Given the description of an element on the screen output the (x, y) to click on. 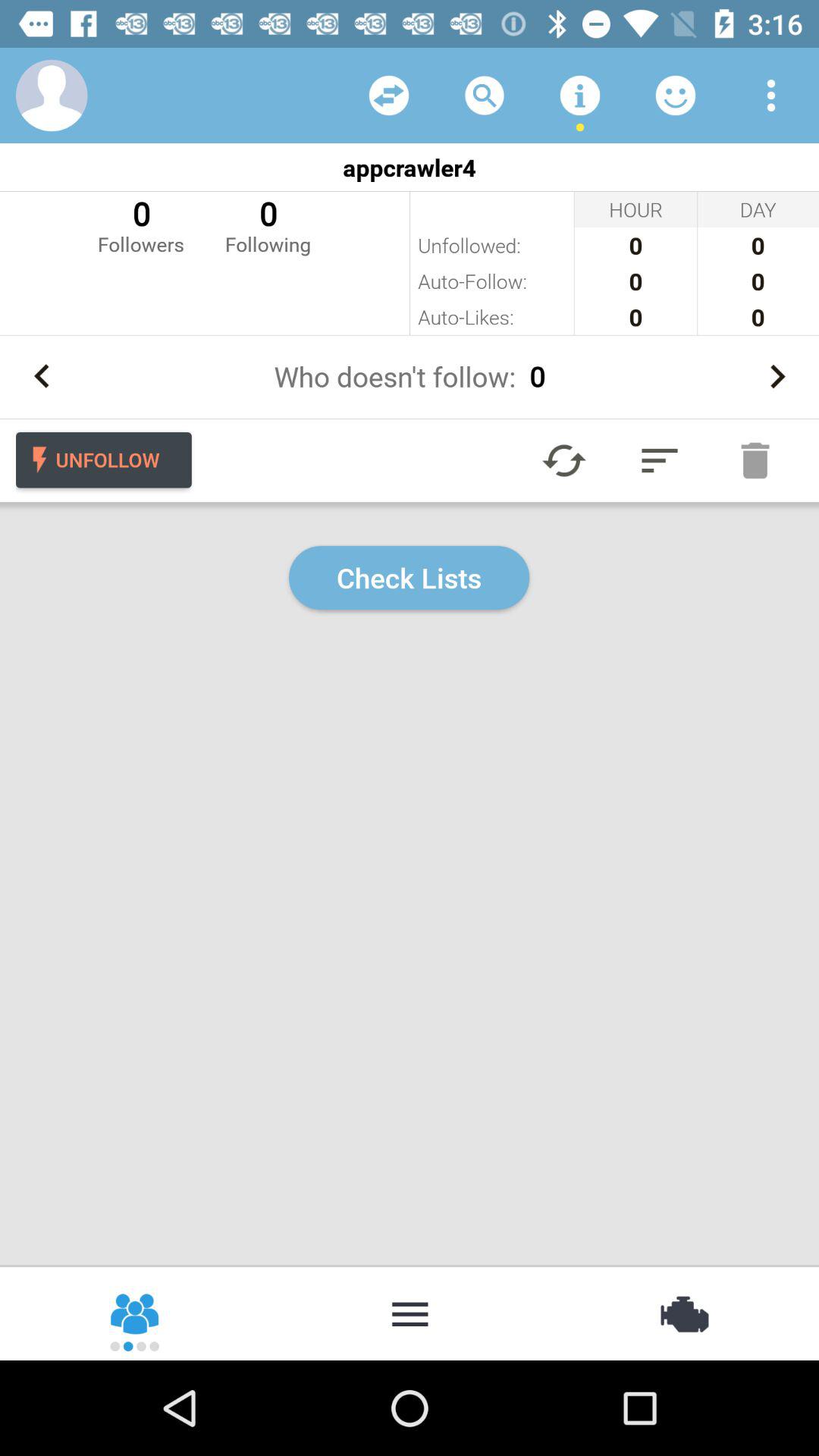
refresh the app (563, 460)
